Given the description of an element on the screen output the (x, y) to click on. 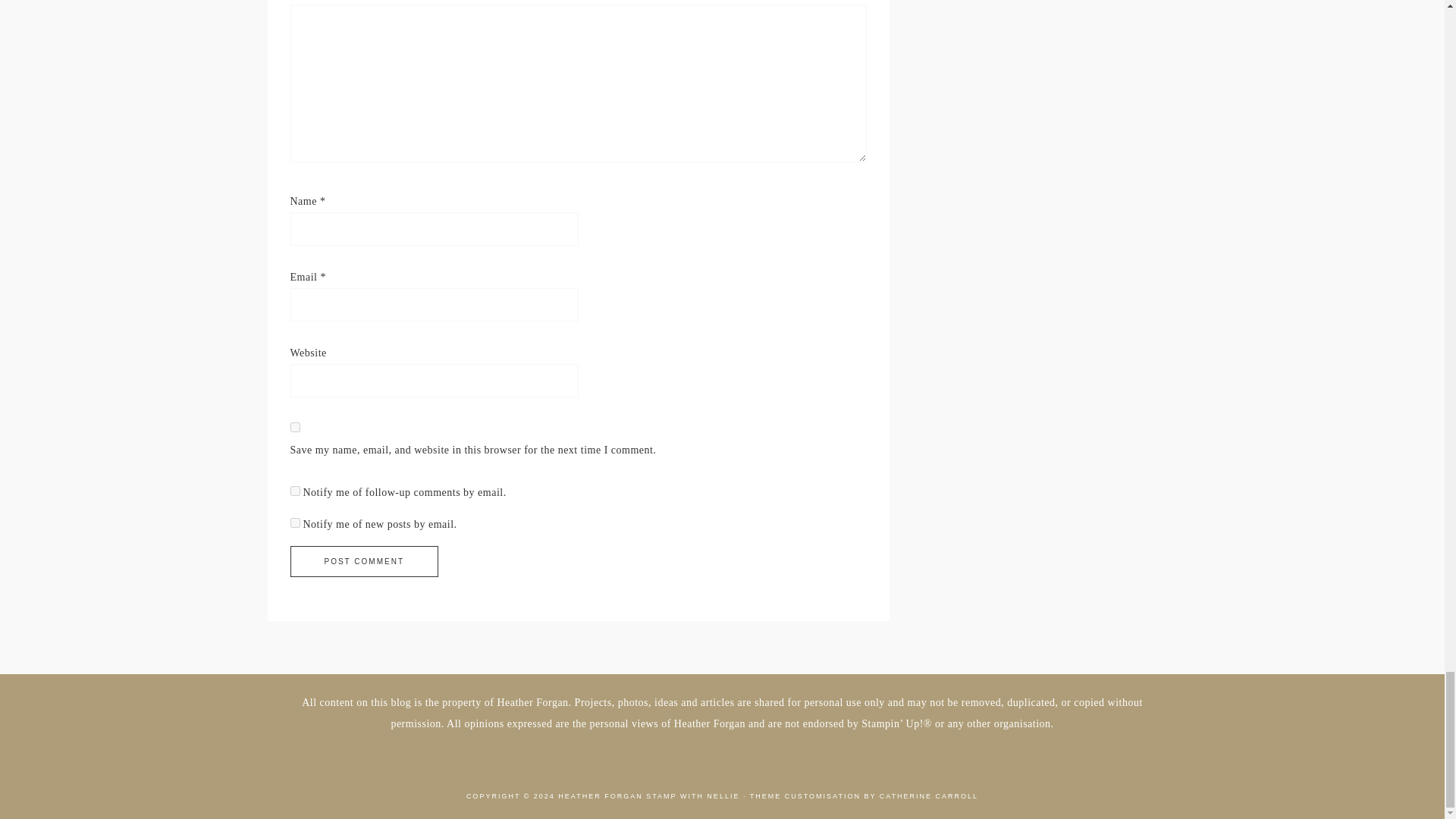
Post Comment (363, 561)
subscribe (294, 491)
subscribe (294, 522)
yes (294, 427)
